Given the description of an element on the screen output the (x, y) to click on. 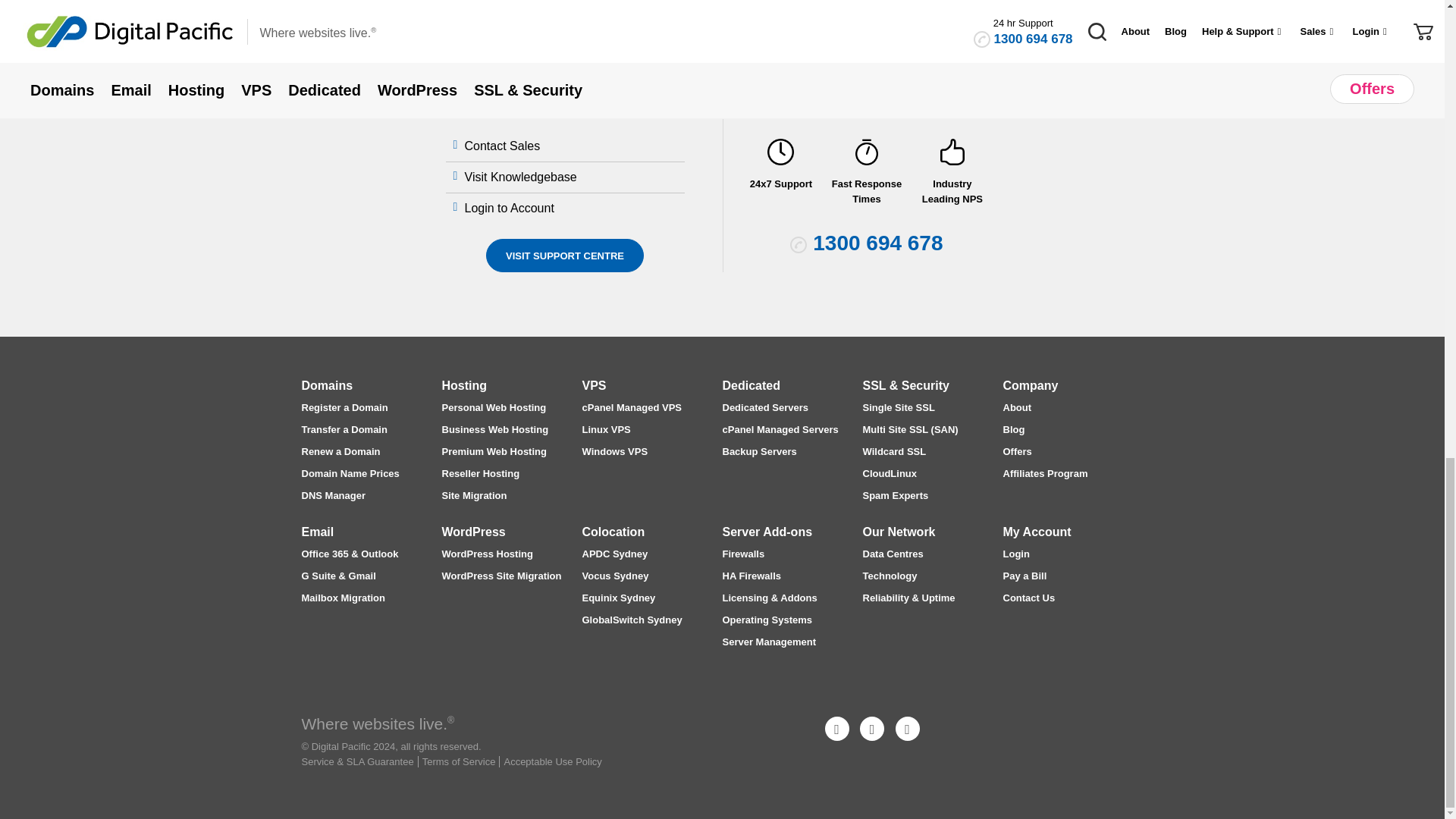
Contact Sales (504, 145)
Visit Support Centre (564, 255)
Login to Account (511, 207)
Call 1300 694 678 (877, 242)
Visit Knowledgebase (522, 176)
